Given the description of an element on the screen output the (x, y) to click on. 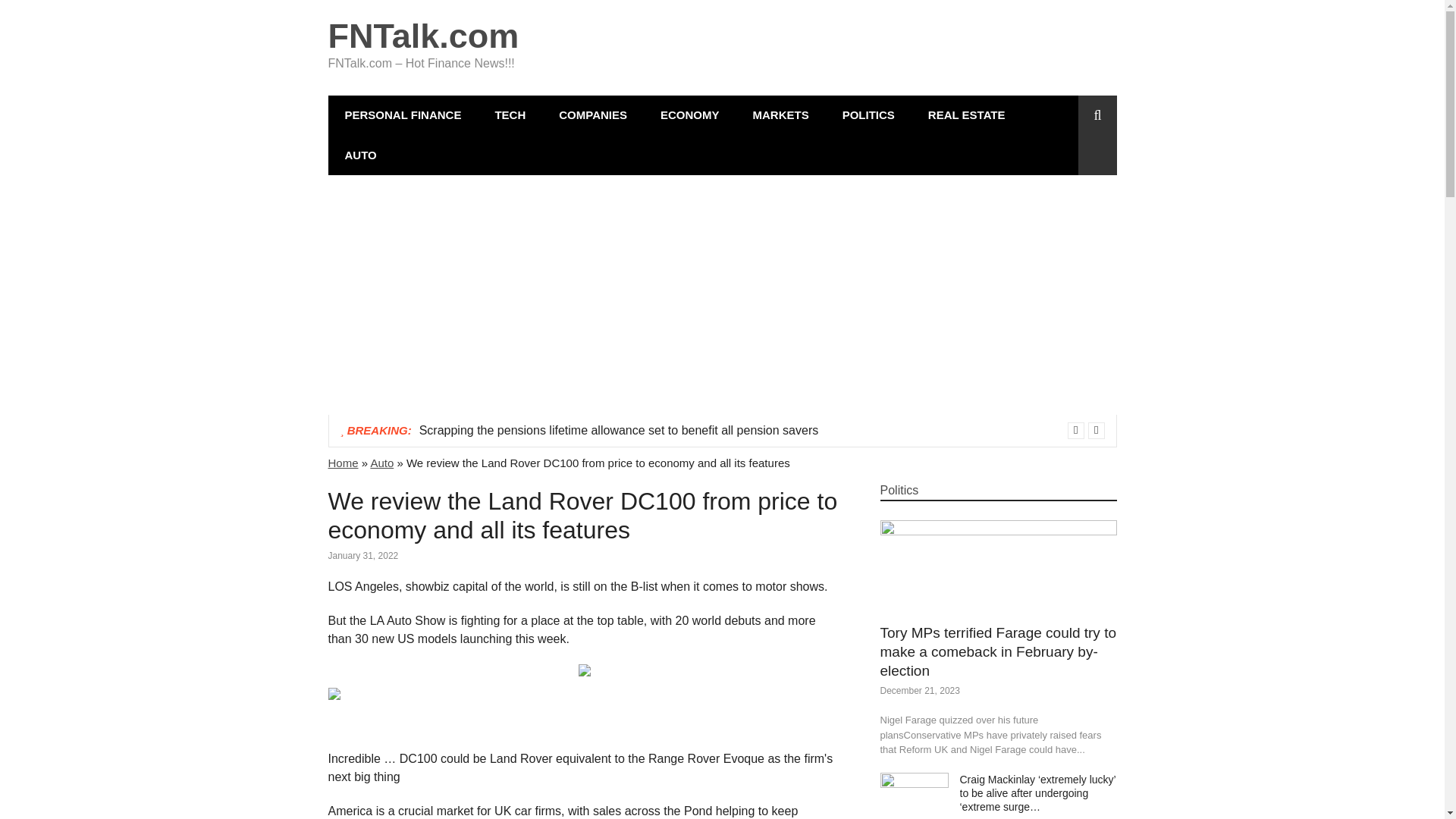
REAL ESTATE (966, 115)
Auto (381, 462)
AUTO (360, 155)
ECONOMY (689, 115)
TECH (509, 115)
FNTalk.com (422, 35)
MARKETS (780, 115)
PERSONAL FINANCE (402, 115)
COMPANIES (592, 115)
Home (342, 462)
POLITICS (868, 115)
